Given the description of an element on the screen output the (x, y) to click on. 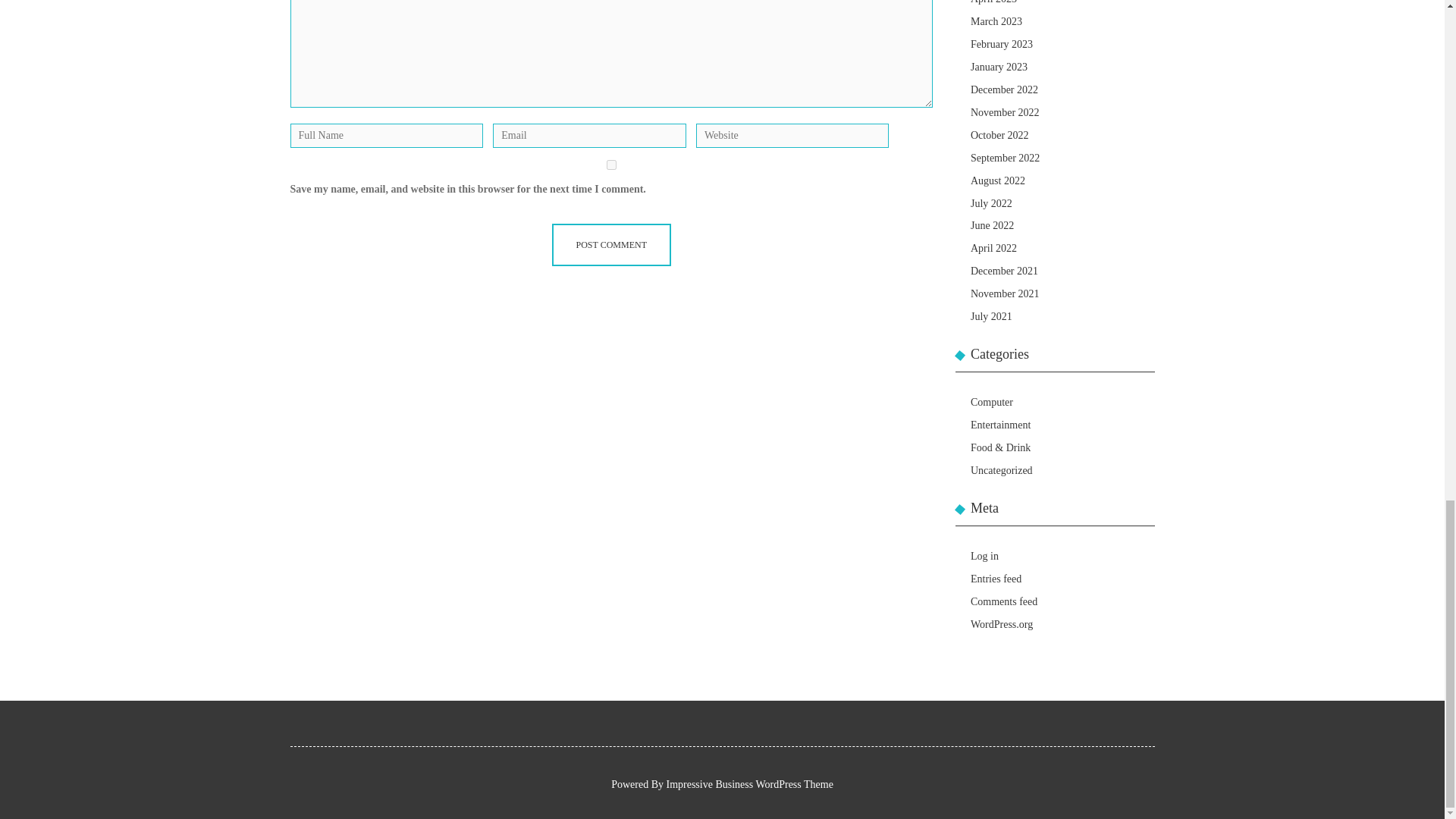
Post Comment (611, 244)
April 2023 (993, 2)
yes (611, 164)
Post Comment (611, 244)
